Given the description of an element on the screen output the (x, y) to click on. 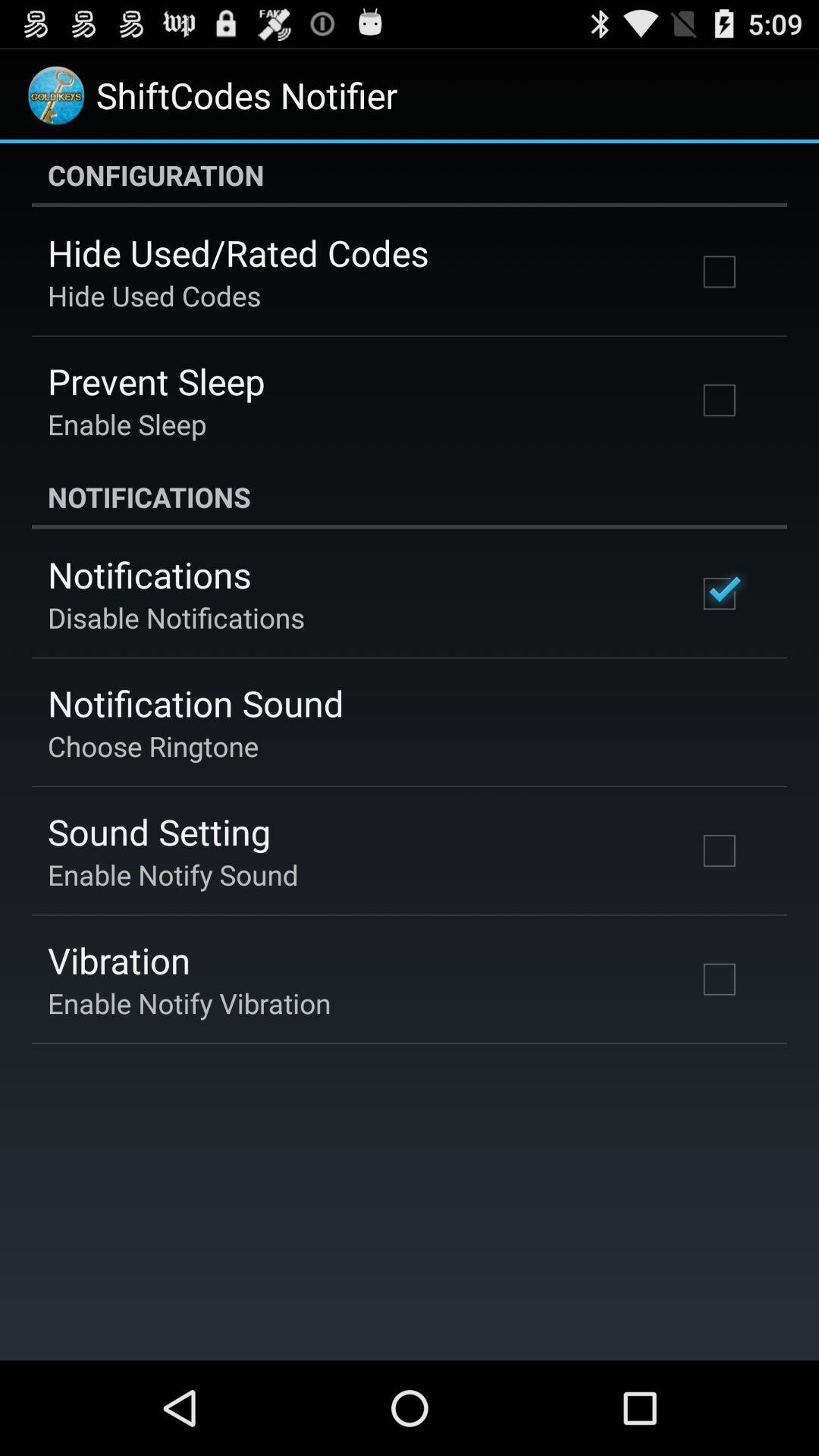
scroll to the prevent sleep app (156, 381)
